Given the description of an element on the screen output the (x, y) to click on. 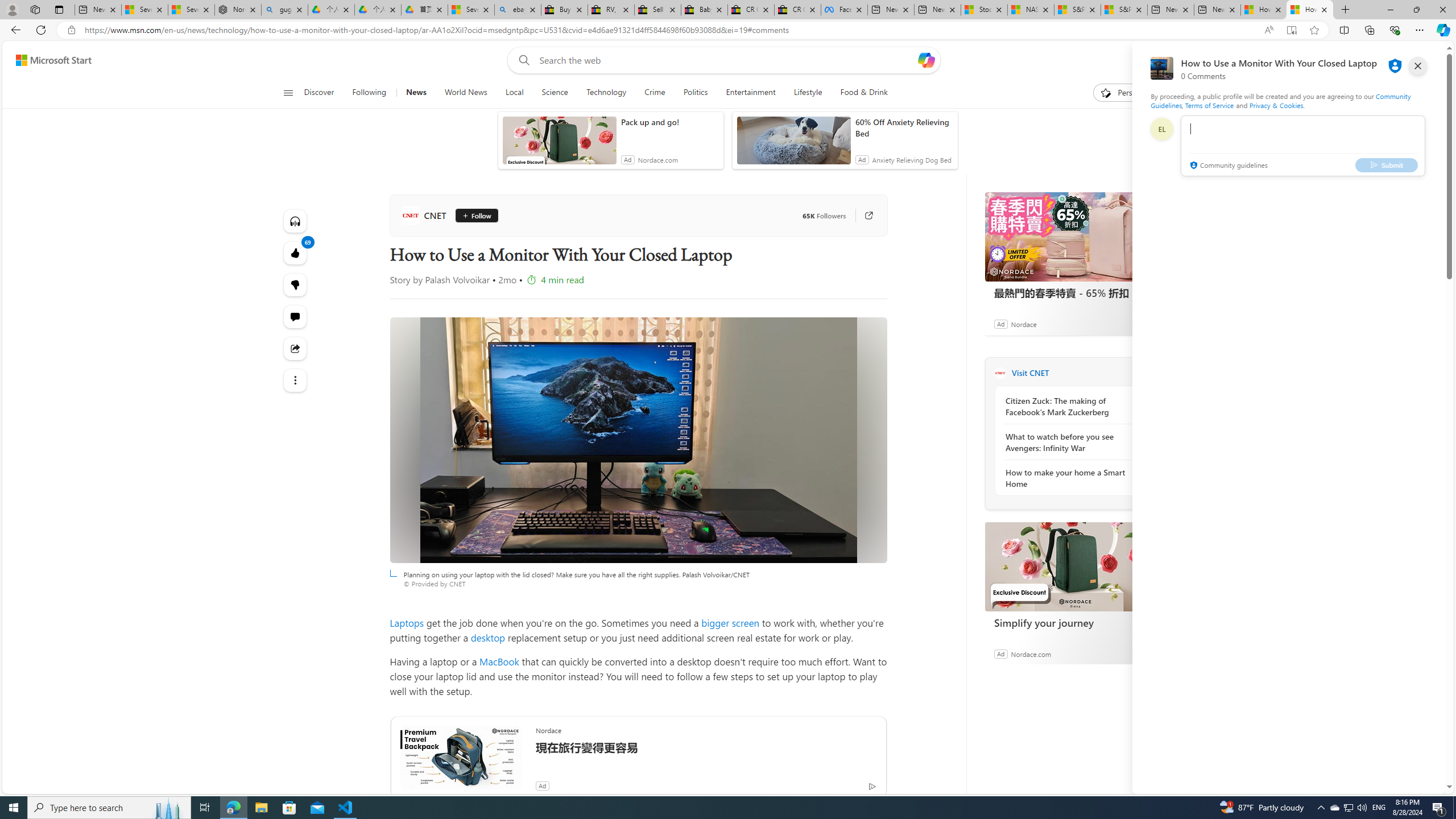
Lifestyle (807, 92)
To get missing image descriptions, open the context menu. (1105, 92)
Crime (654, 92)
Lifestyle (807, 92)
Follow (473, 215)
CNET (1000, 372)
Entertainment (750, 92)
